Given the description of an element on the screen output the (x, y) to click on. 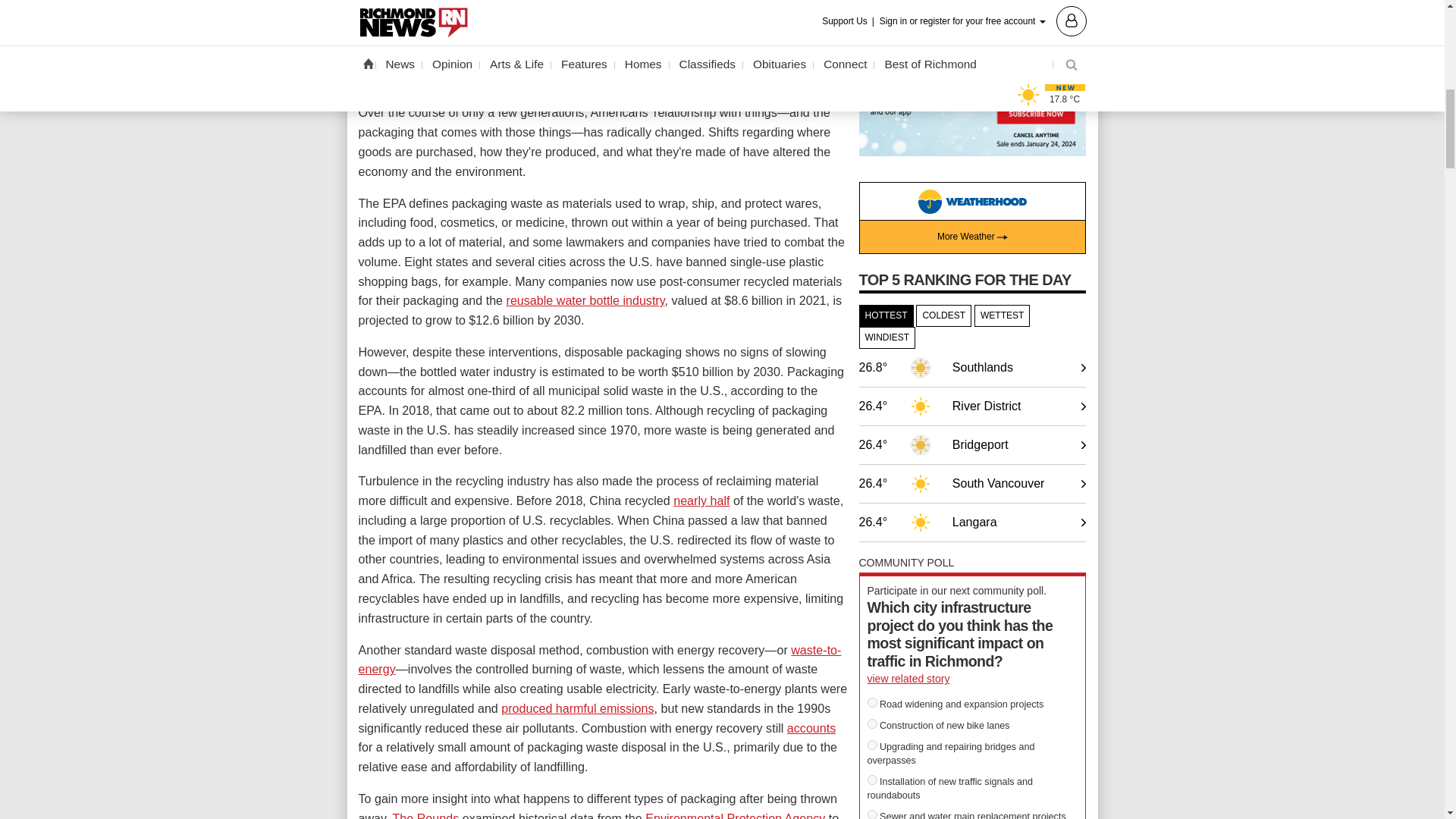
122348 (872, 702)
122350 (872, 745)
122349 (872, 723)
122352 (872, 814)
122351 (872, 779)
